Given the description of an element on the screen output the (x, y) to click on. 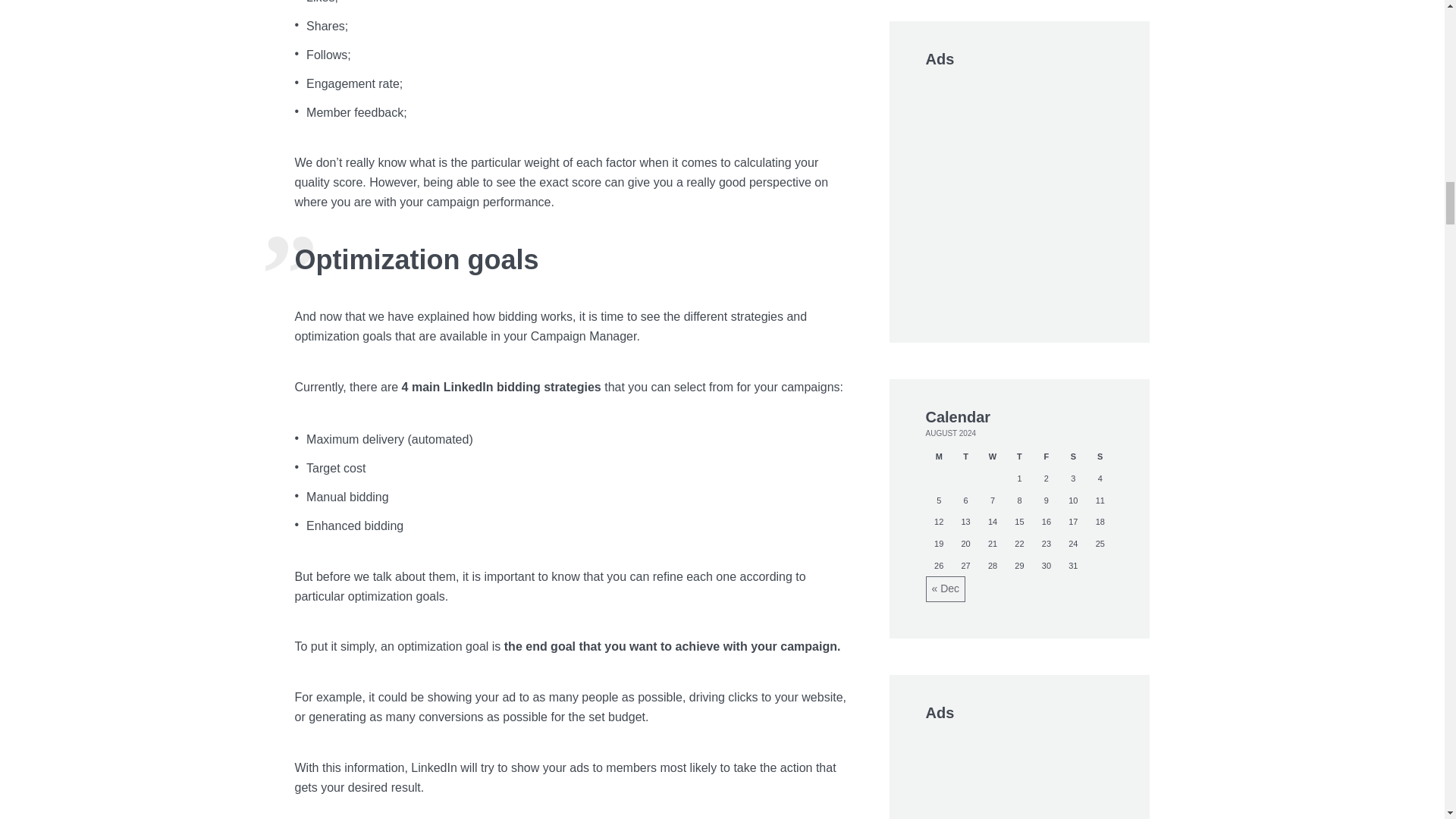
Friday (1045, 456)
Sunday (1099, 456)
Wednesday (992, 456)
Thursday (1019, 456)
Monday (938, 456)
Saturday (1072, 456)
Tuesday (965, 456)
